Given the description of an element on the screen output the (x, y) to click on. 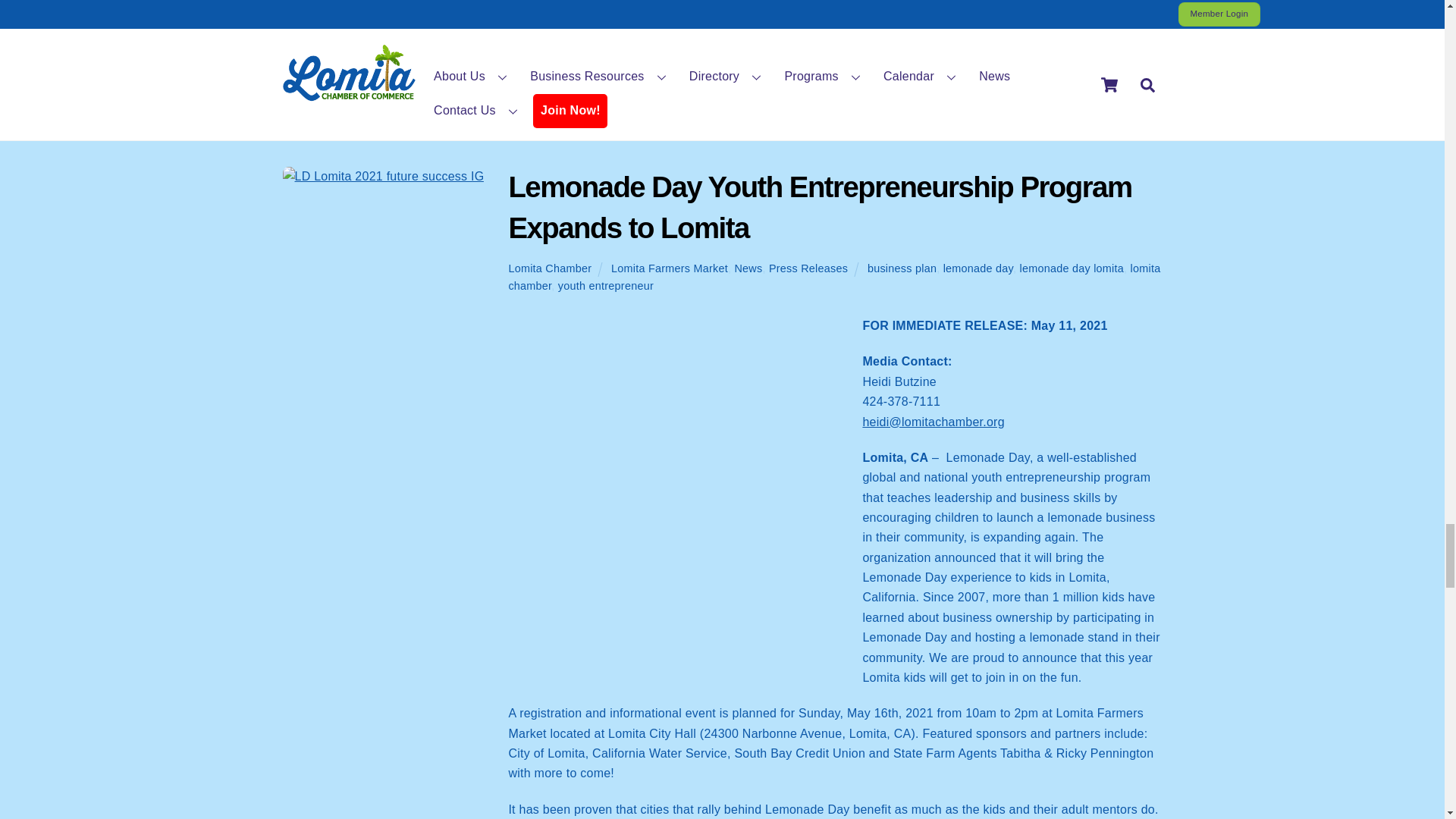
LD Lomita 2021 future success IG (382, 176)
